Given the description of an element on the screen output the (x, y) to click on. 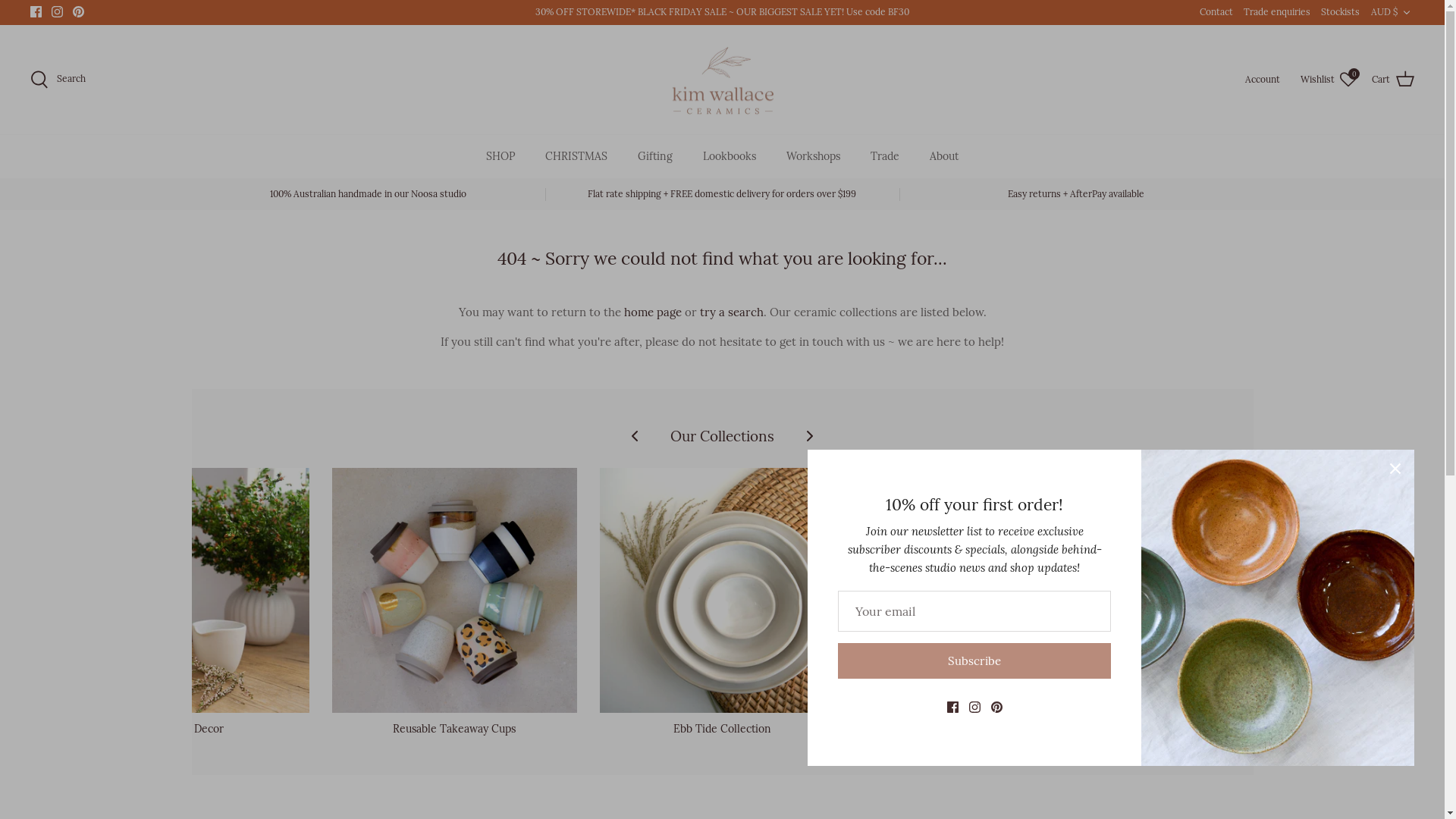
Contact Element type: text (1216, 12)
Rugged Earth Collection Element type: text (989, 602)
Lookbooks Element type: text (729, 156)
Stockists Element type: text (1340, 12)
100% Australian handmade in our Noosa studio Element type: text (368, 194)
Subscribe Element type: text (973, 660)
Gifting Element type: text (655, 156)
Home & Decor Element type: text (186, 602)
Workshops Element type: text (812, 156)
Wishlist
0 Element type: text (1328, 79)
Facebook Element type: text (35, 11)
About Element type: text (944, 156)
Easy returns + AfterPay available Element type: text (1076, 194)
AUD $
Down Element type: text (1392, 12)
try a search Element type: text (730, 311)
Trade Element type: text (884, 156)
Search Element type: text (57, 79)
home page Element type: text (651, 311)
Ebb Tide Collection Element type: text (721, 602)
CHRISTMAS Element type: text (576, 156)
SHOP Element type: text (500, 156)
Reusable Takeaway Cups Element type: text (454, 602)
Pinterest Element type: text (78, 11)
Account Element type: text (1265, 79)
Kim Wallace Ceramics Element type: hover (722, 79)
Trade enquiries Element type: text (1276, 12)
Cart Element type: text (1392, 79)
Vintage Lace Collection Element type: text (1257, 602)
Instagram Element type: text (56, 11)
